Given the description of an element on the screen output the (x, y) to click on. 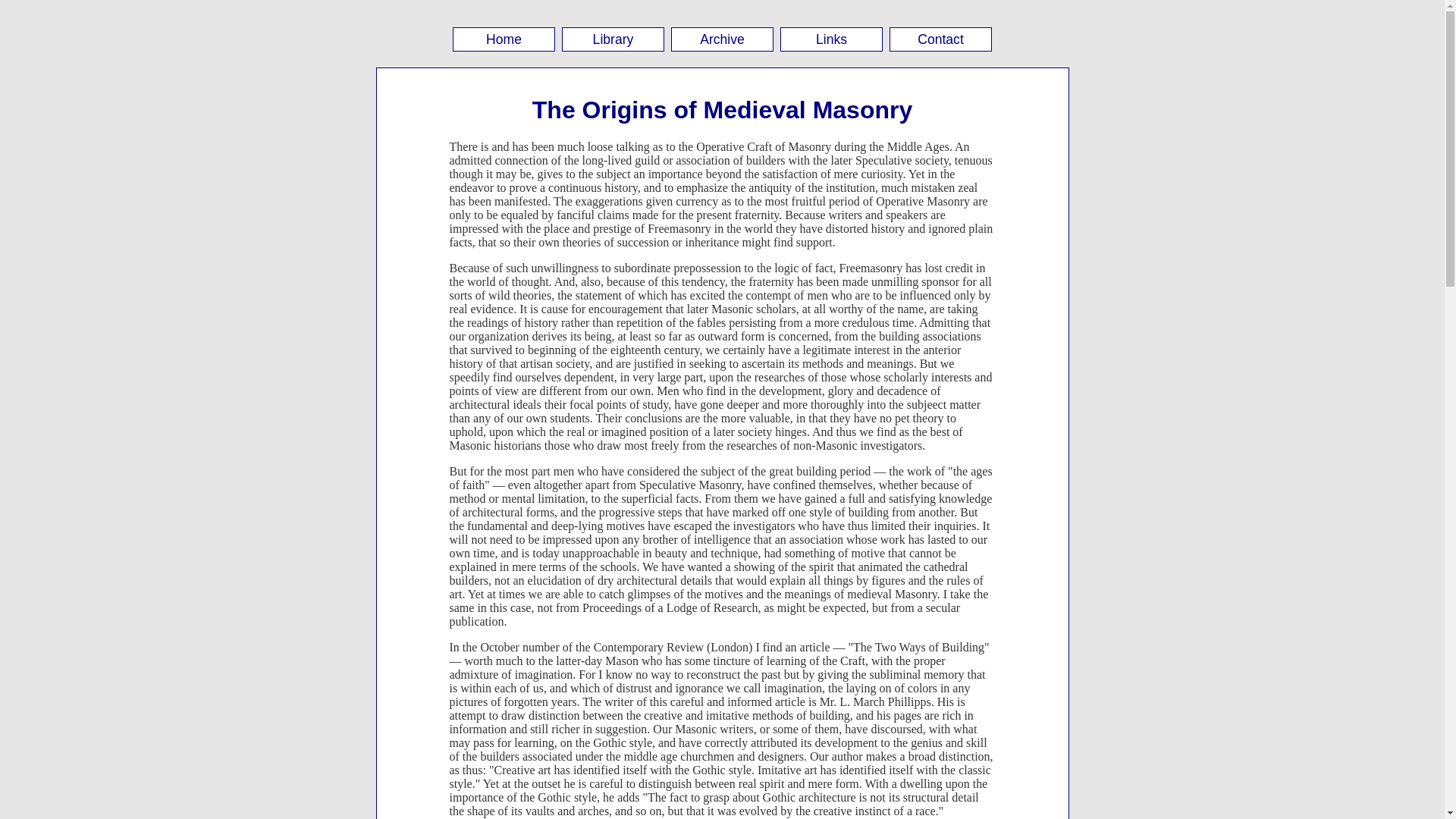
Library (612, 39)
Home (503, 39)
Links (831, 39)
Contact (940, 39)
Archive (722, 39)
